Given the description of an element on the screen output the (x, y) to click on. 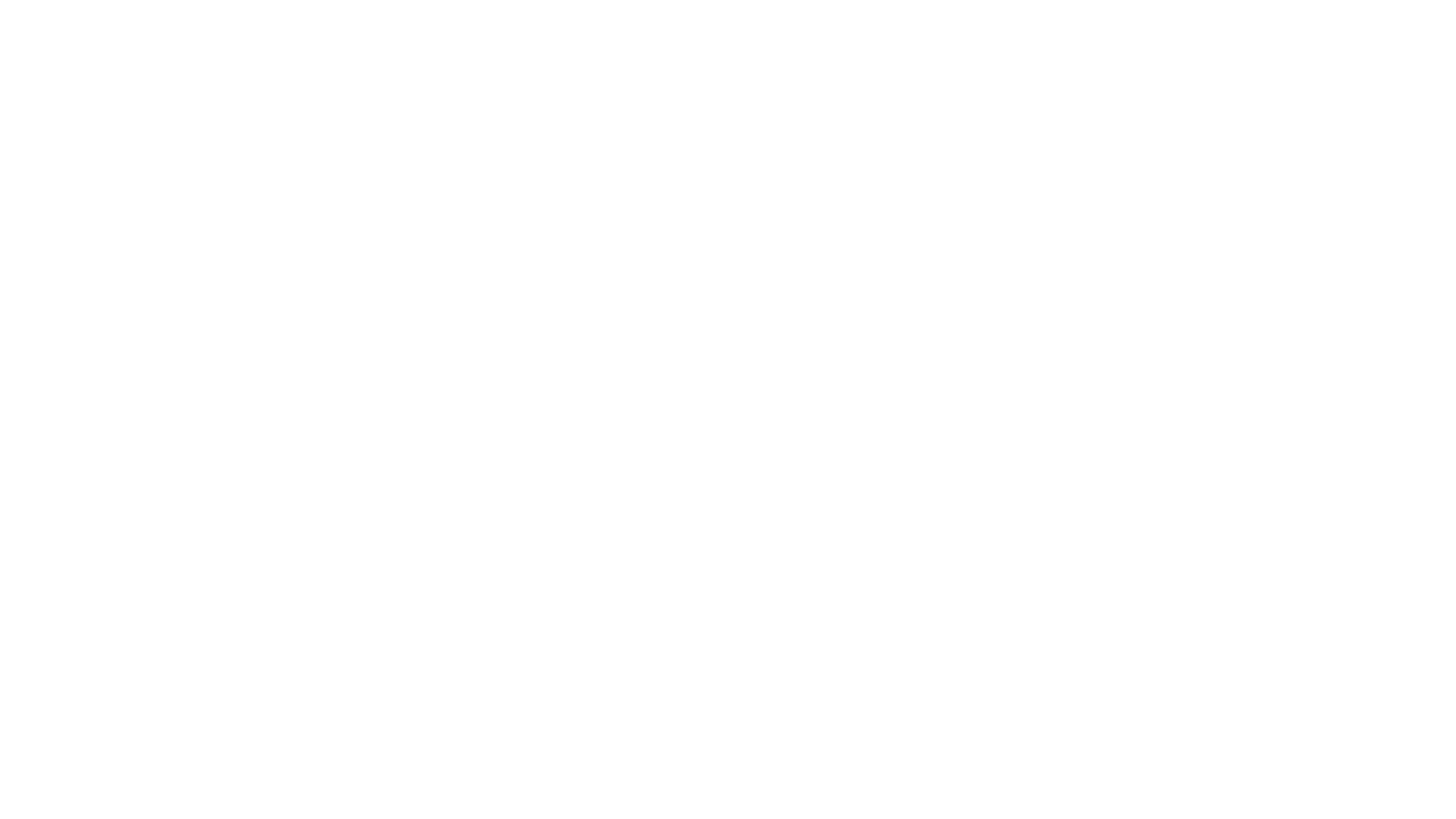
En salles Element type: text (736, 45)
RETOUR Element type: text (208, 551)
Refuser Element type: text (935, 208)
Accueil Element type: hover (323, 34)
Bar/Restaurant Element type: text (1021, 45)
En savoir plus et personnaliser Element type: text (479, 208)
Aller au contenu principal Element type: text (0, 0)
Jeunesse Element type: text (943, 45)
Tickets films Element type: text (1107, 46)
politique relative aux cookies Element type: text (966, 127)
Accepter Element type: text (1032, 208)
